Given the description of an element on the screen output the (x, y) to click on. 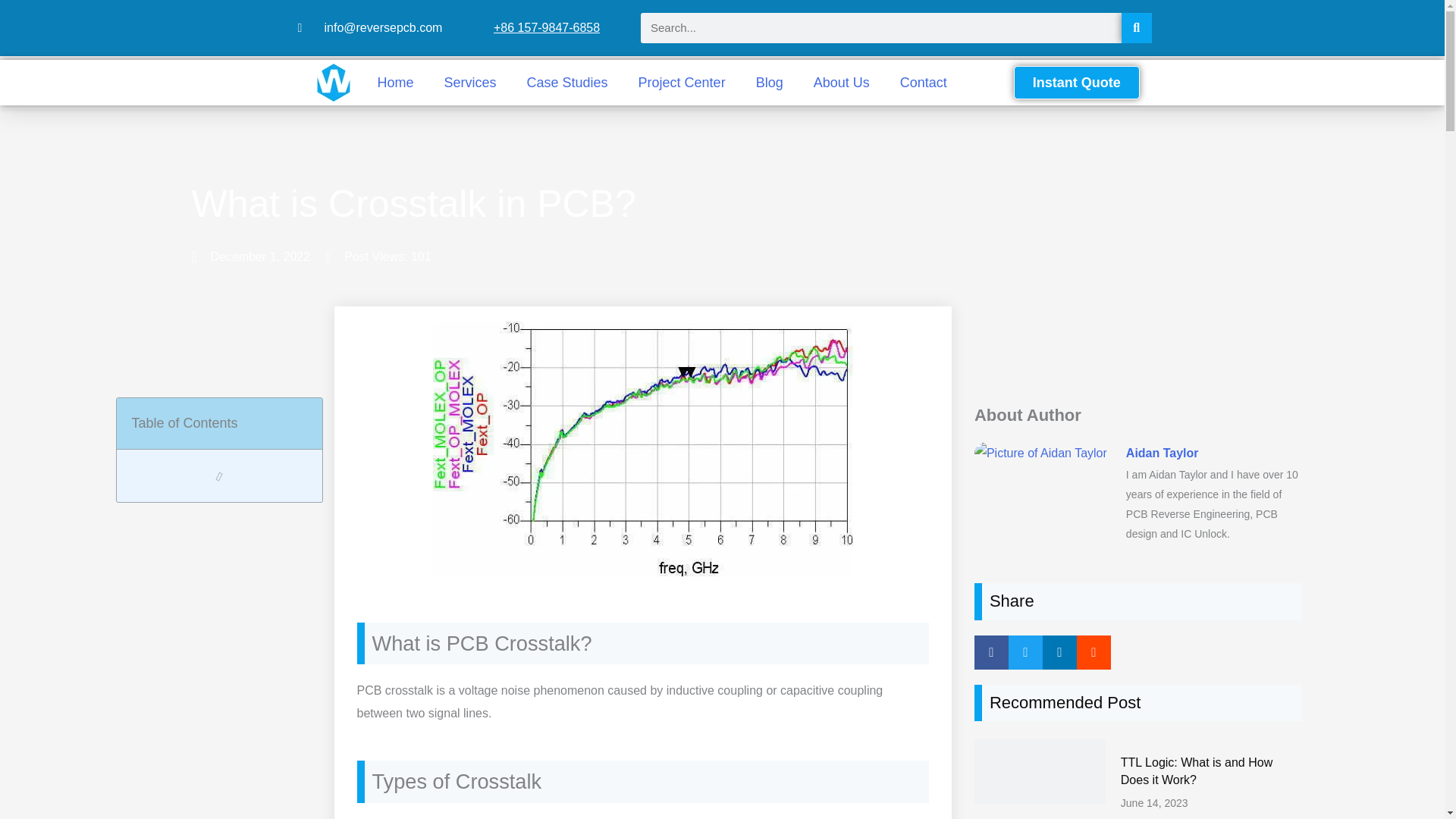
Home (395, 82)
Case Studies (567, 82)
Project Center (682, 82)
Services (470, 82)
Search (1136, 28)
About Us (841, 82)
Contact (923, 82)
